Given the description of an element on the screen output the (x, y) to click on. 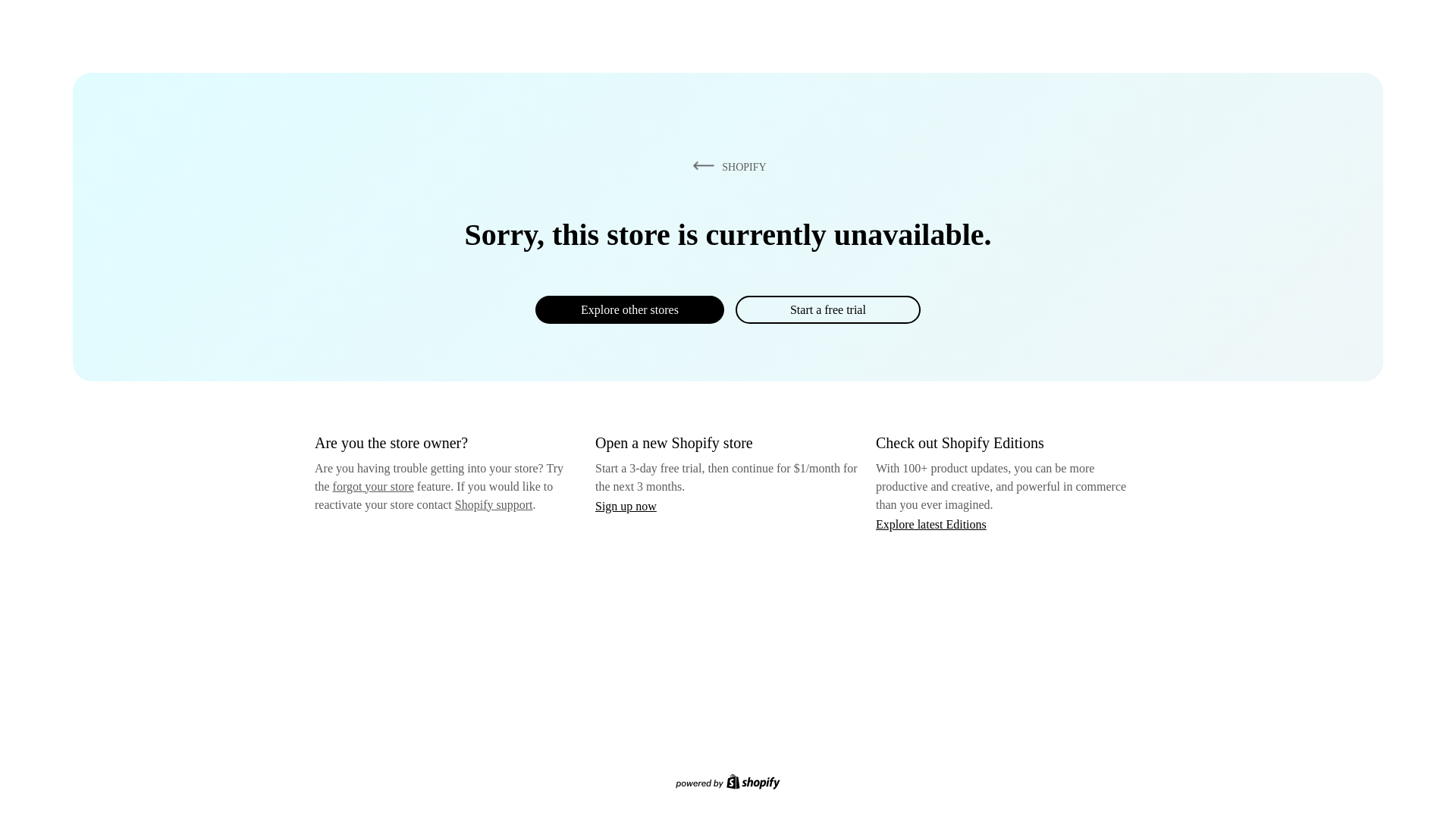
Explore latest Editions (931, 523)
SHOPIFY (726, 166)
Explore other stores (629, 309)
forgot your store (373, 486)
Start a free trial (827, 309)
Shopify support (493, 504)
Sign up now (625, 505)
